Given the description of an element on the screen output the (x, y) to click on. 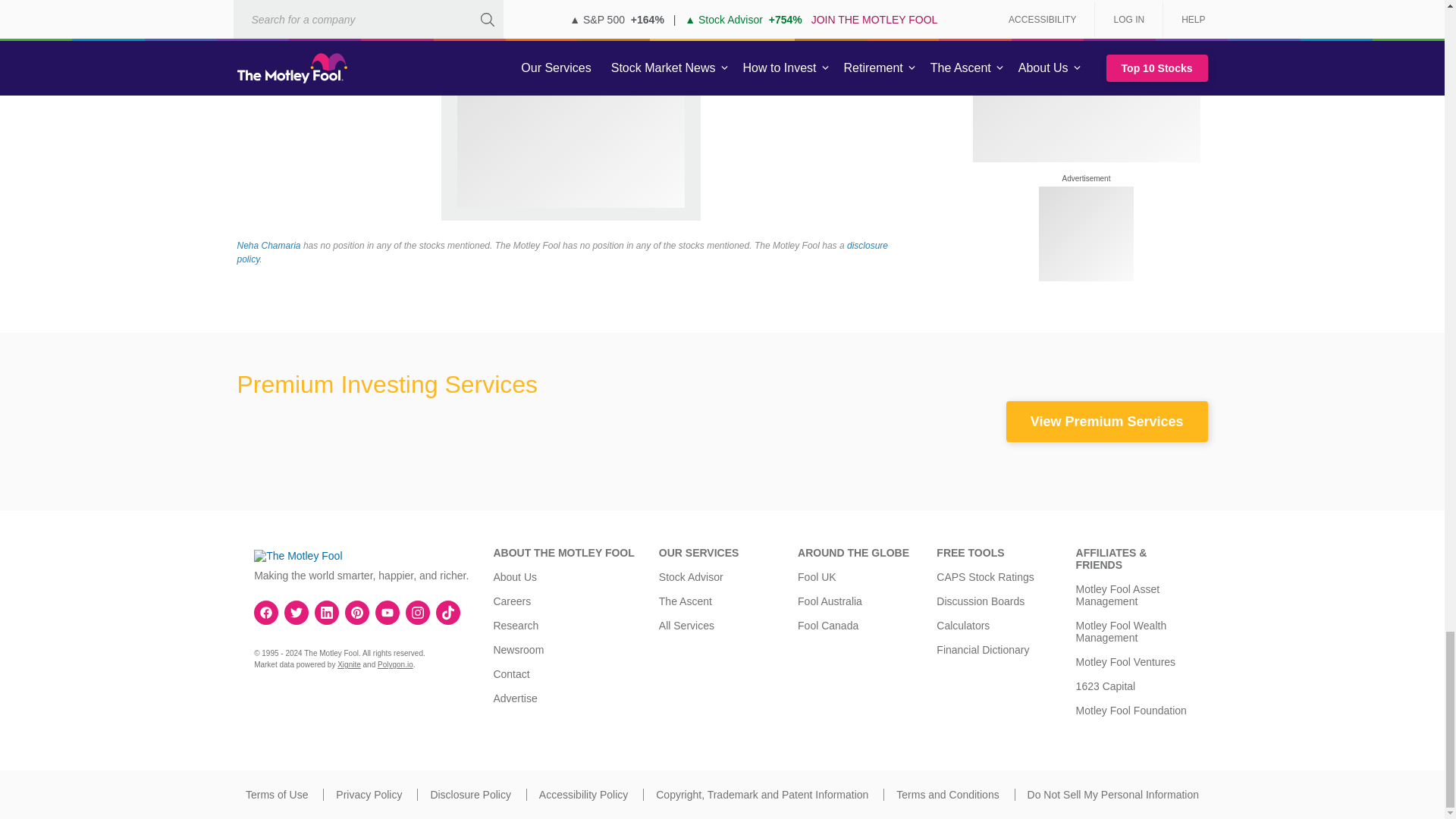
Accessibility Policy (582, 794)
Privacy Policy (368, 794)
Copyright, Trademark and Patent Information (761, 794)
Disclosure Policy (470, 794)
Terms and Conditions (947, 794)
Terms of Use (276, 794)
Do Not Sell My Personal Information. (1112, 794)
